Given the description of an element on the screen output the (x, y) to click on. 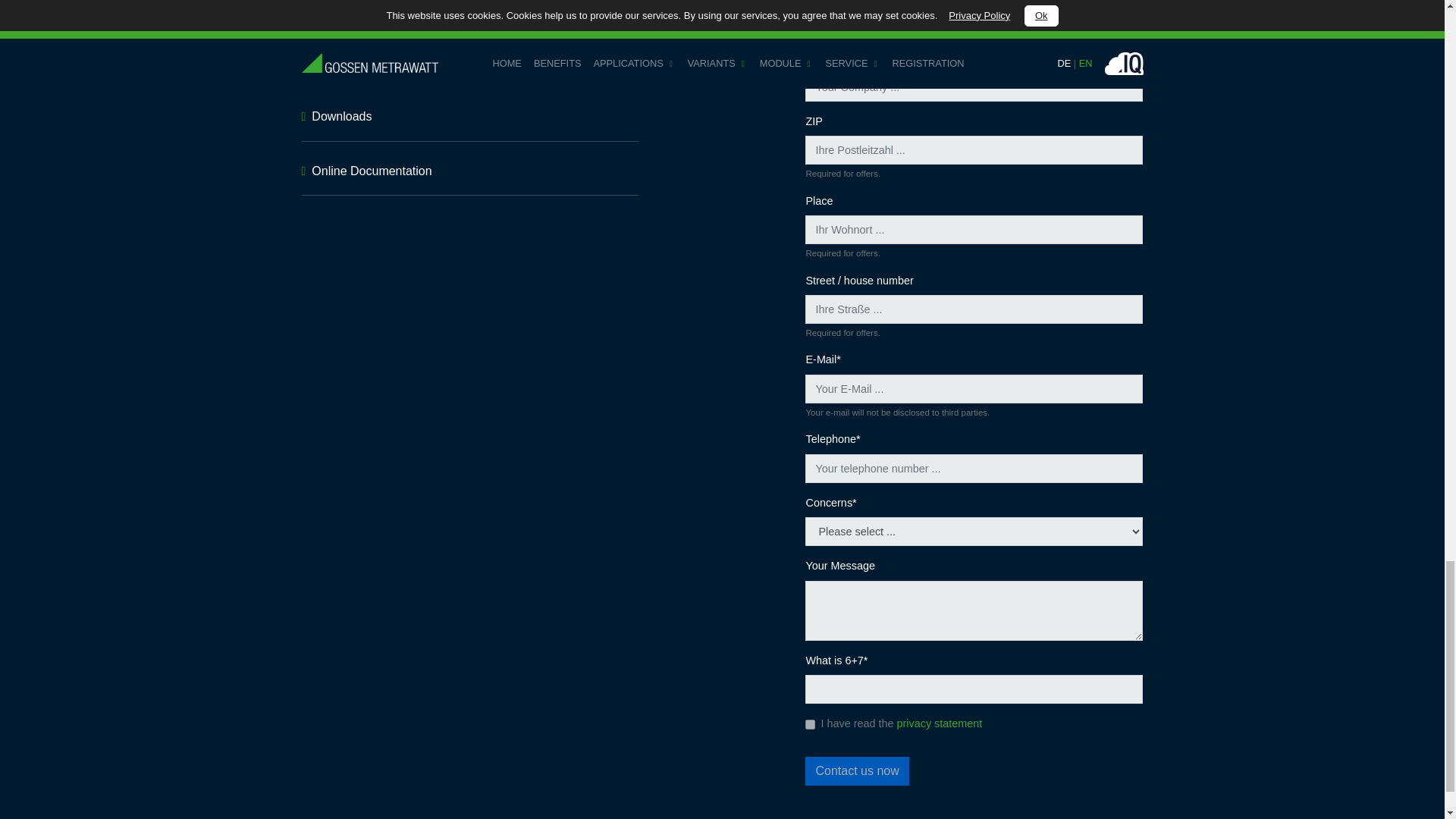
privacy statement (938, 723)
GMC Instruments privacy statement (938, 723)
on (810, 724)
Downloads (341, 115)
Online Documentation (370, 170)
Contact us now (856, 770)
